Given the description of an element on the screen output the (x, y) to click on. 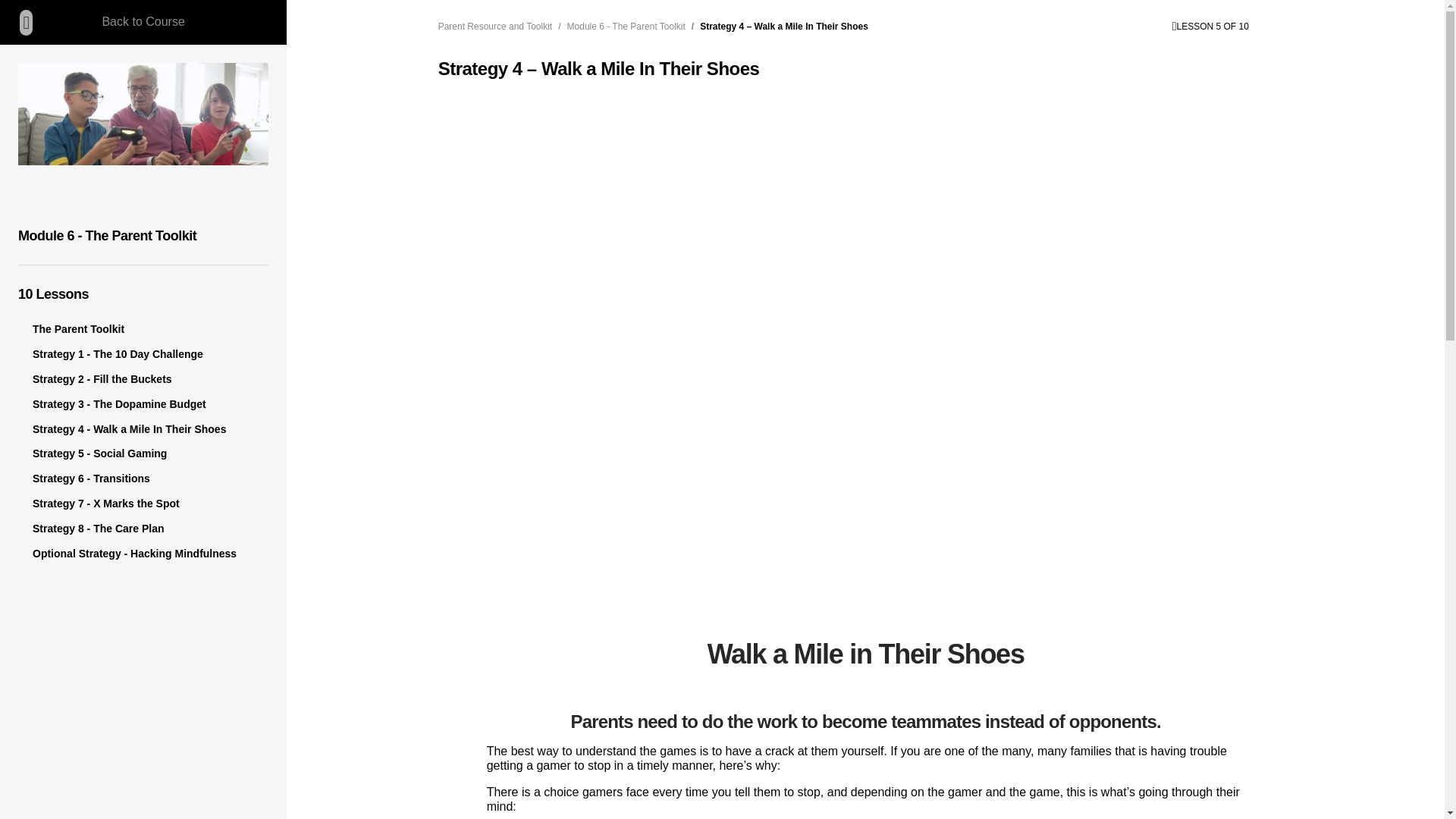
Back to Course (142, 21)
The Parent Toolkit (77, 328)
Strategy 4 - Walk a Mile In Their Shoes (128, 428)
Strategy 5 - Social Gaming (99, 453)
Strategy 3 - The Dopamine Budget (119, 404)
Strategy 7 - X Marks the Spot (105, 503)
Strategy 6 - Transitions (90, 478)
Strategy 2 - Fill the Buckets (101, 378)
Optional Strategy - Hacking Mindfulness (133, 553)
